Given the description of an element on the screen output the (x, y) to click on. 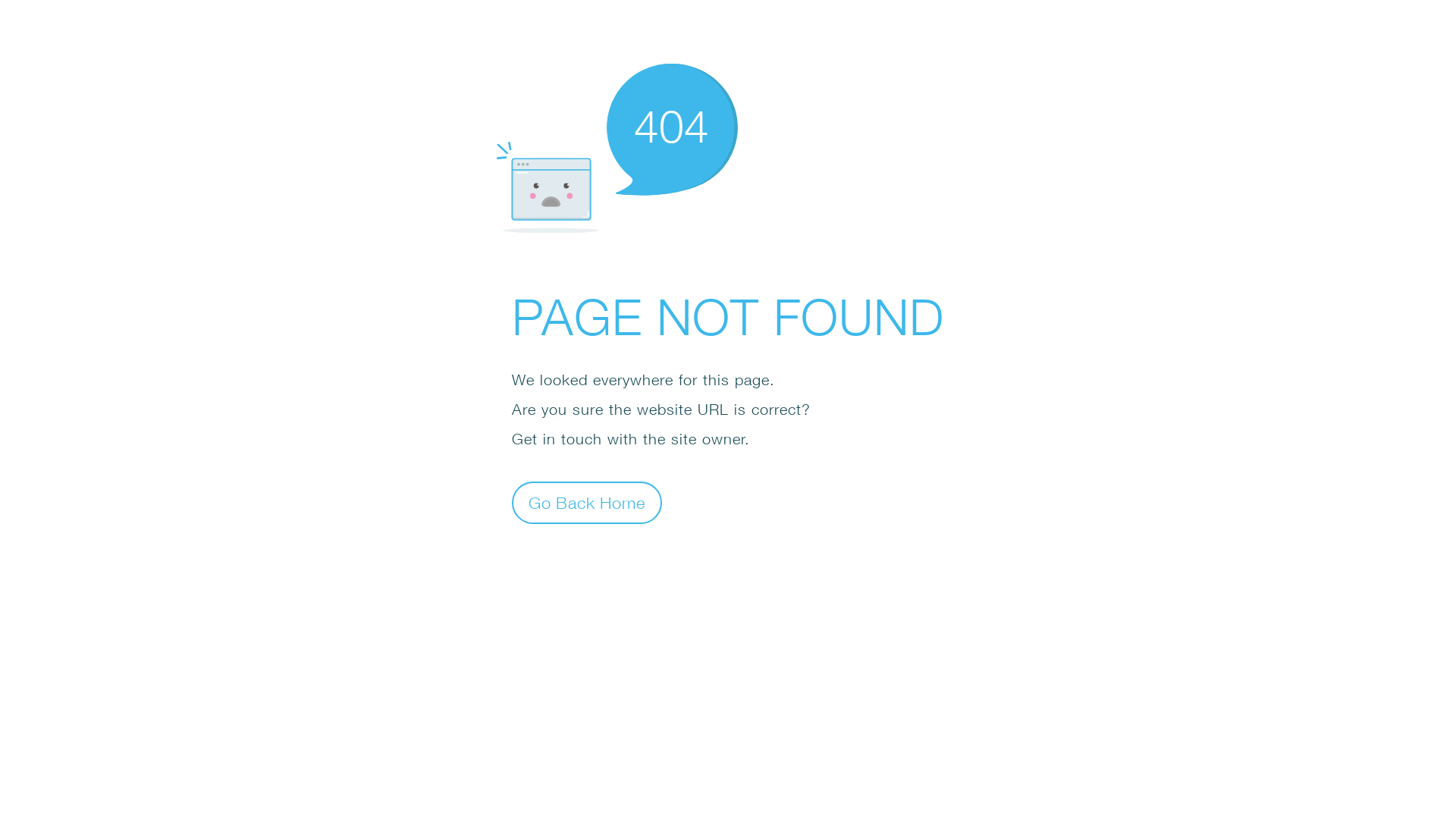
Go Back Home Element type: text (586, 502)
